Given the description of an element on the screen output the (x, y) to click on. 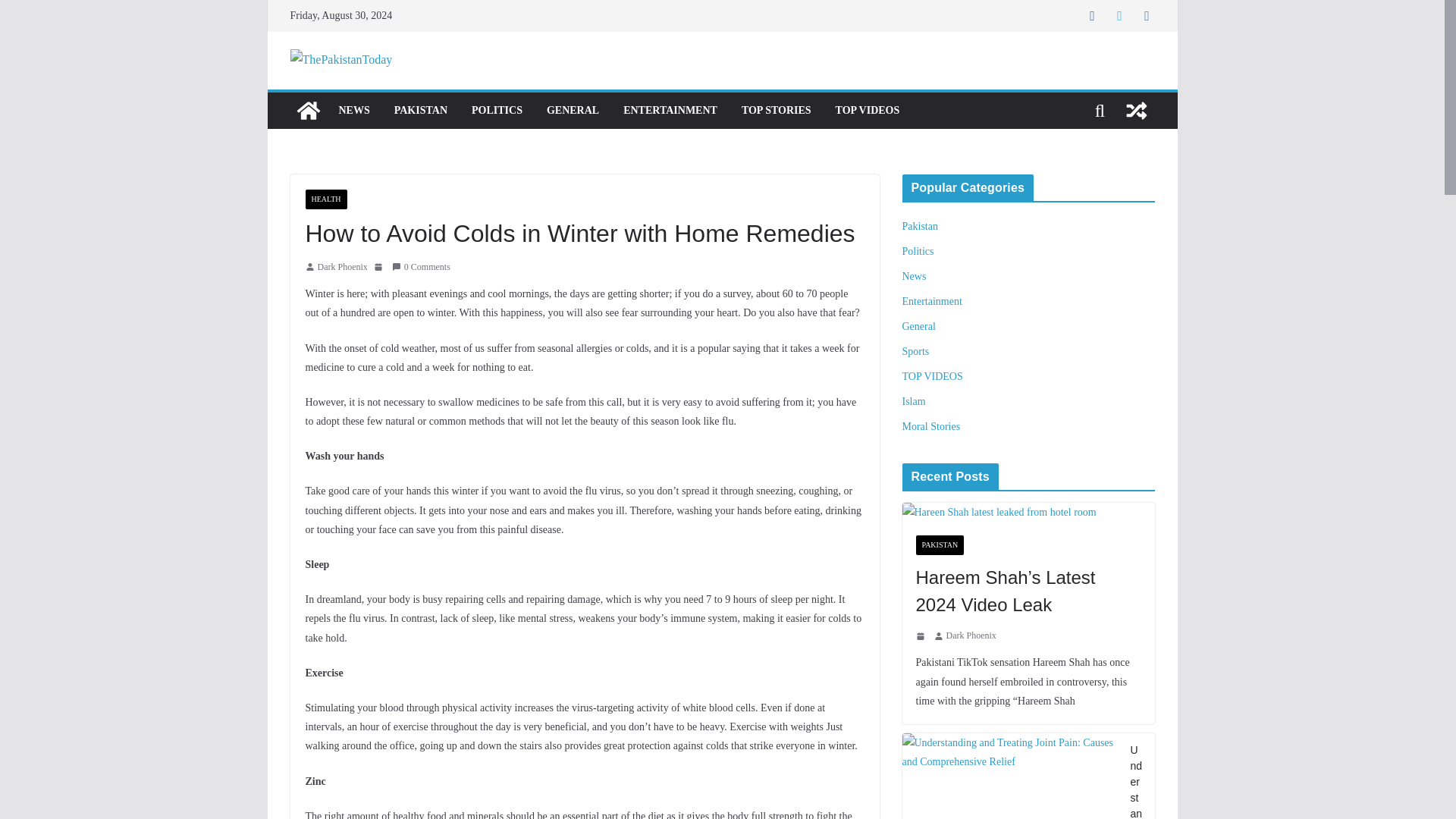
12:50 pm (379, 266)
NEWS (353, 110)
HEALTH (325, 199)
ThePakistanToday (307, 110)
Dark Phoenix (341, 267)
Politics (918, 251)
TOP VIDEOS (867, 110)
POLITICS (496, 110)
0 Comments (420, 267)
GENERAL (572, 110)
